Given the description of an element on the screen output the (x, y) to click on. 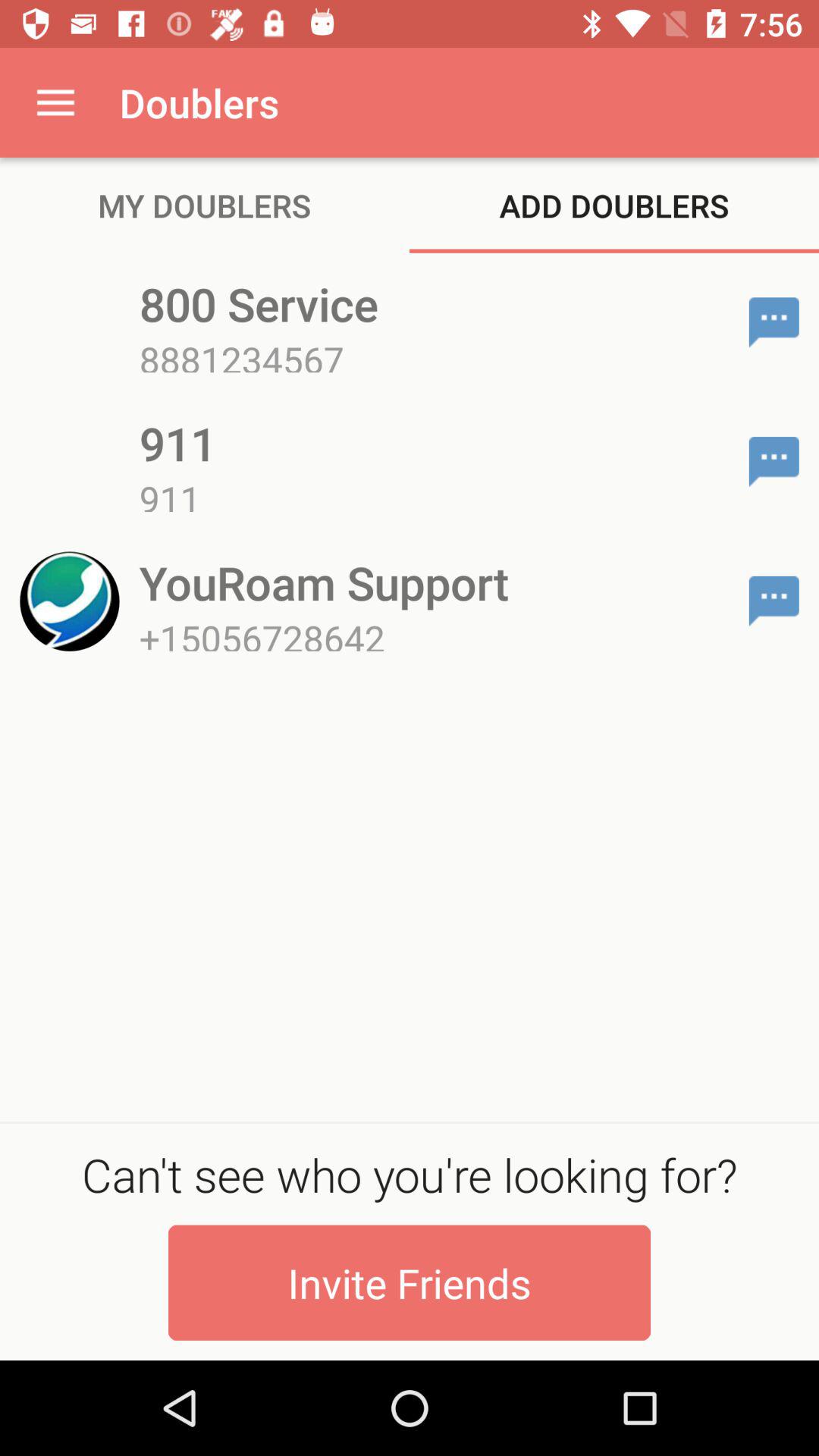
open message from 911 (774, 461)
